Given the description of an element on the screen output the (x, y) to click on. 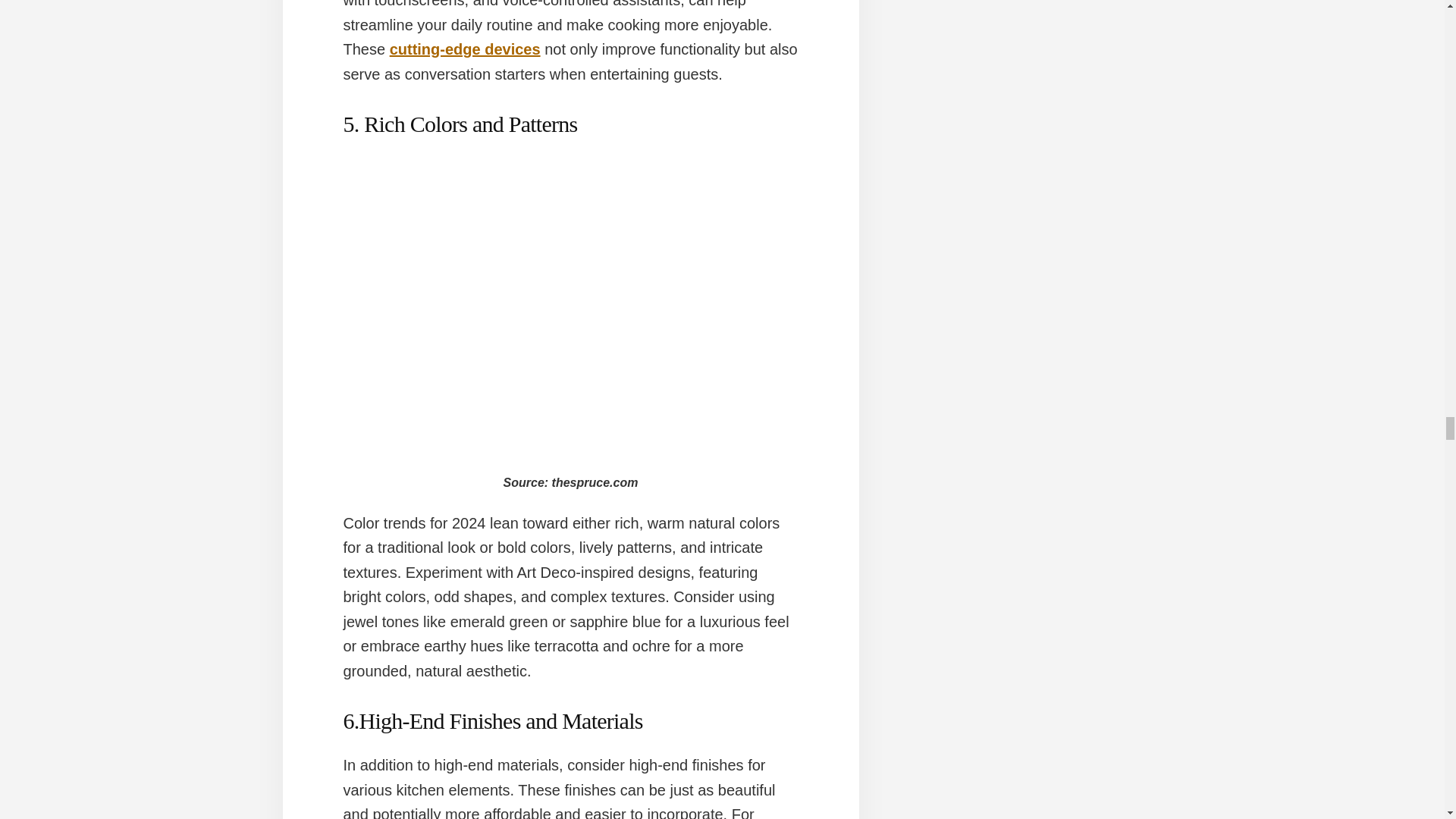
cutting-edge devices (465, 48)
